Given the description of an element on the screen output the (x, y) to click on. 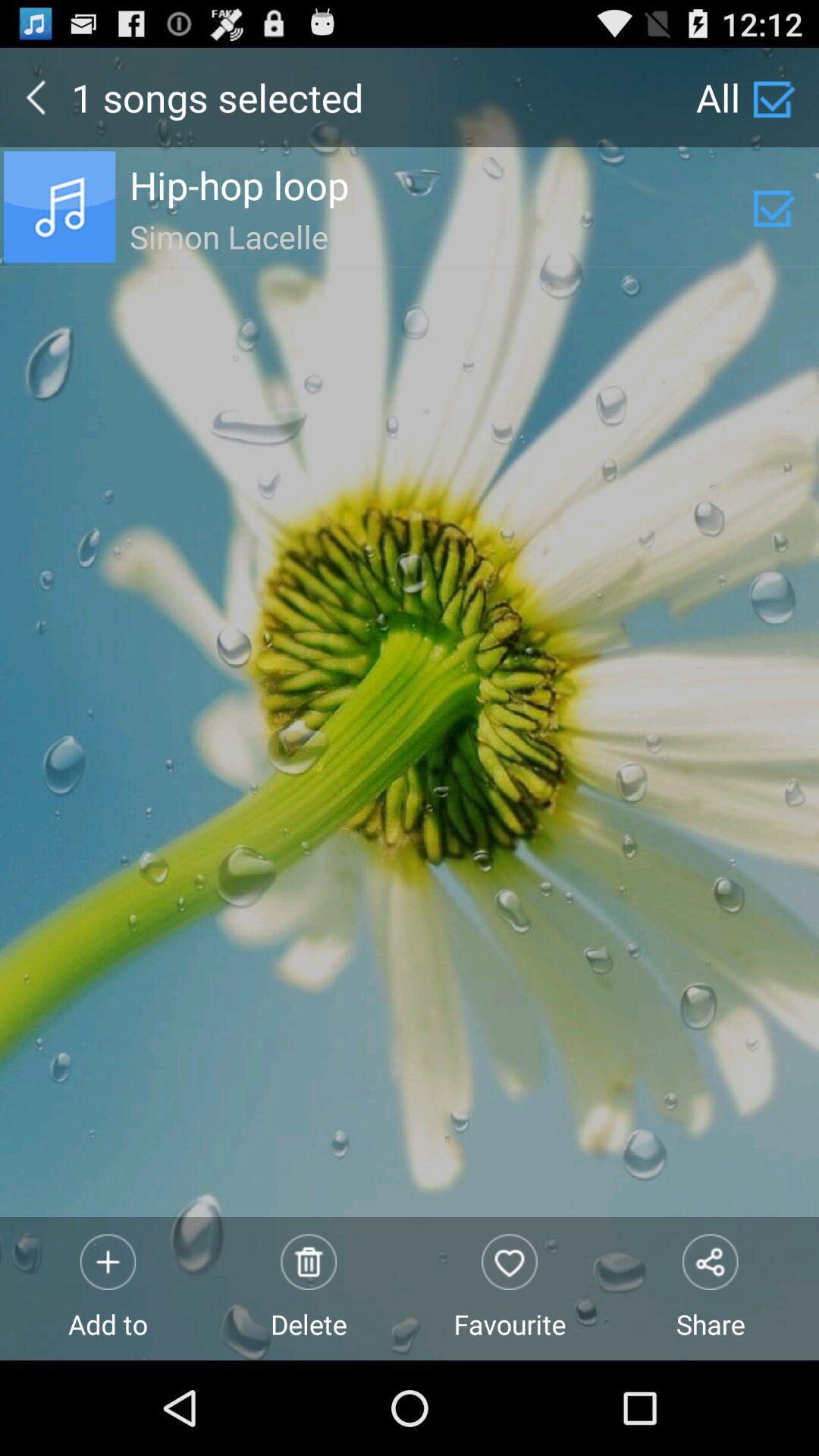
turn on the hip-hop loop app (440, 184)
